Given the description of an element on the screen output the (x, y) to click on. 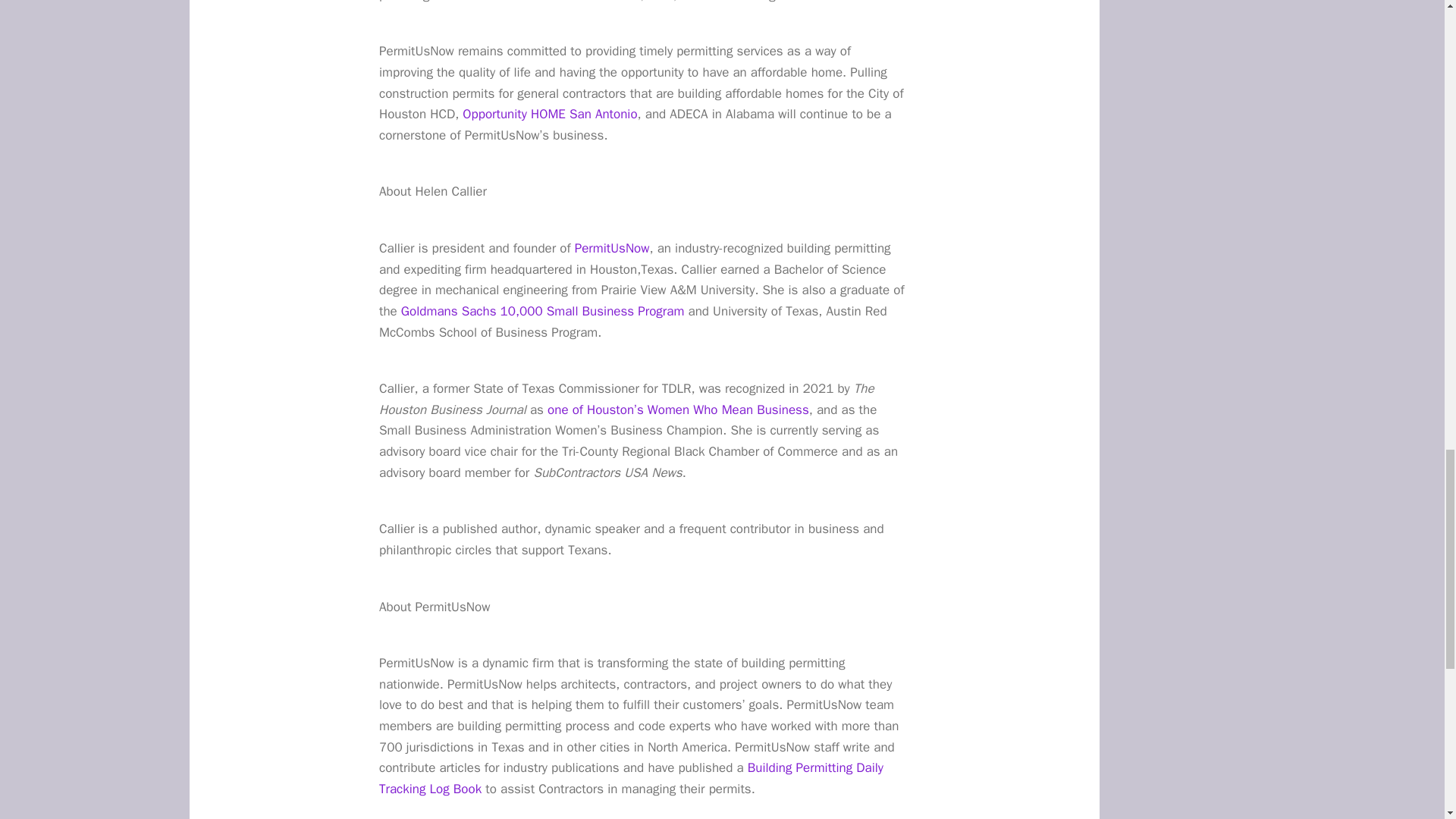
Building Permitting Daily Tracking Log Book (630, 778)
Opportunity HOME San Antonio (550, 114)
PermitUsNow (612, 248)
Goldmans Sachs 10,000 Small Business Program (542, 311)
